Given the description of an element on the screen output the (x, y) to click on. 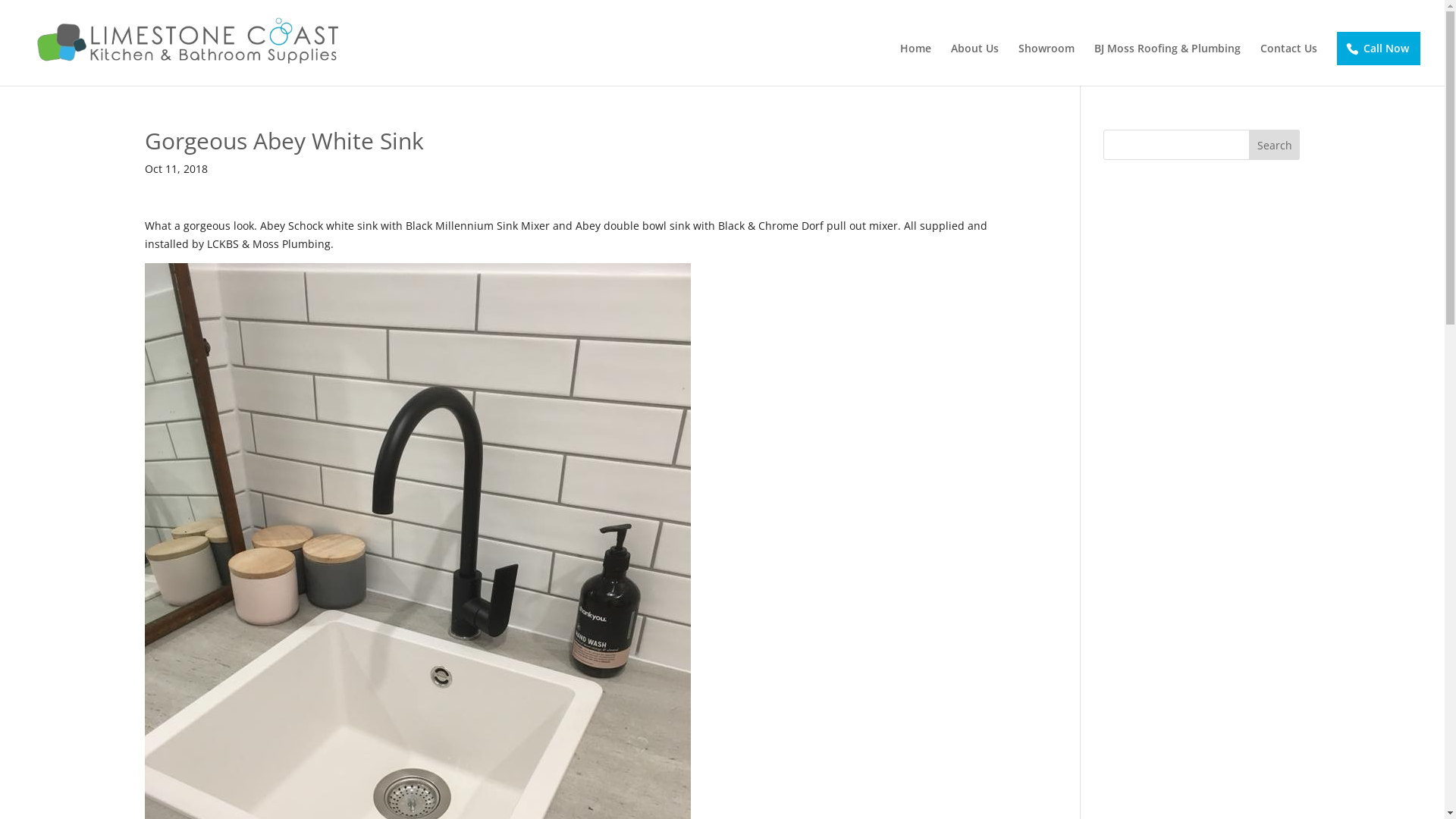
Showroom Element type: text (1046, 64)
Search Element type: text (1274, 144)
Call Now Element type: text (1378, 48)
Home Element type: text (915, 64)
BJ Moss Roofing & Plumbing Element type: text (1167, 64)
About Us Element type: text (974, 64)
Contact Us Element type: text (1288, 64)
